Given the description of an element on the screen output the (x, y) to click on. 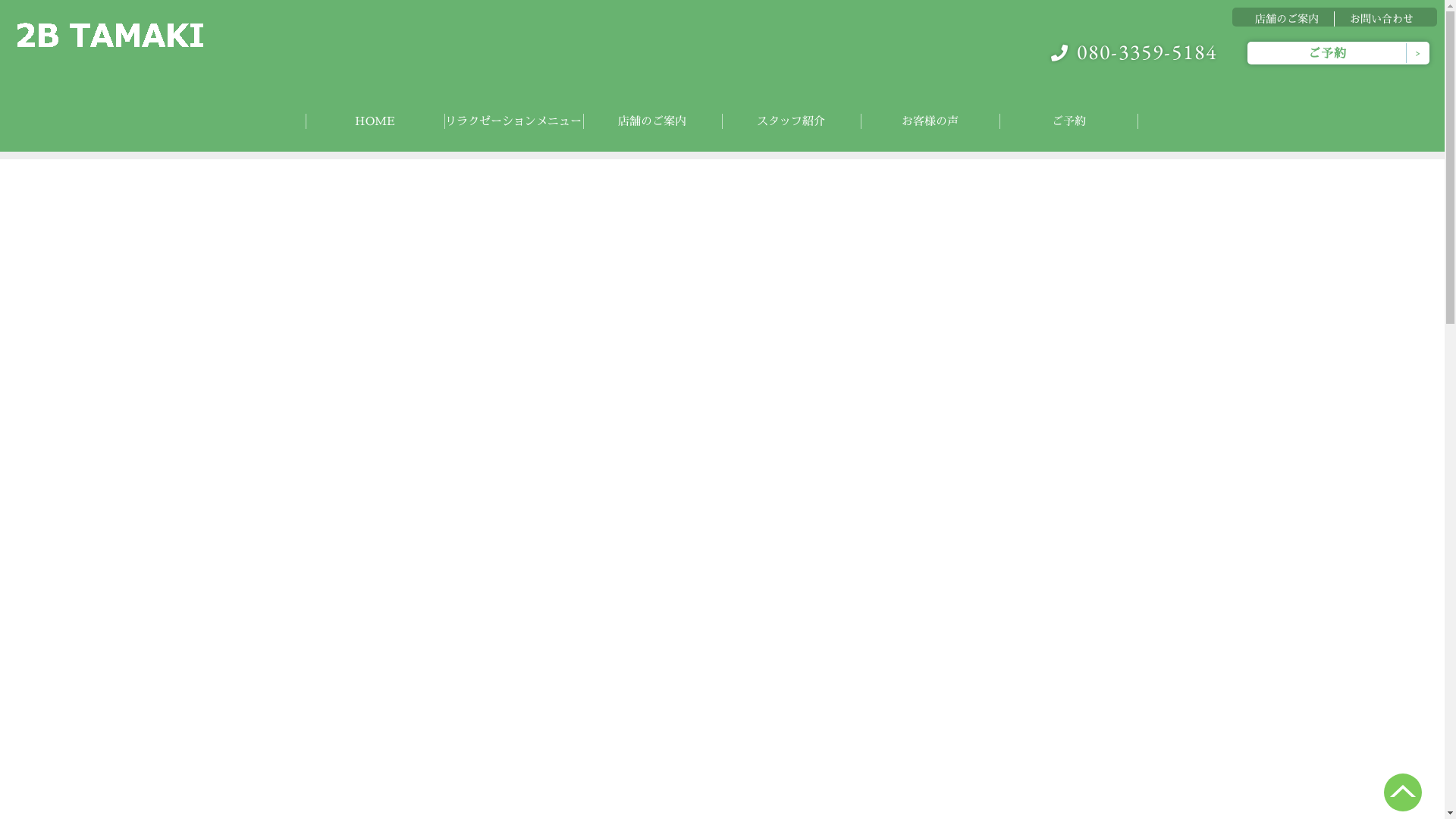
080-3359-5184 Element type: text (1134, 53)
HOME Element type: text (373, 121)
